Given the description of an element on the screen output the (x, y) to click on. 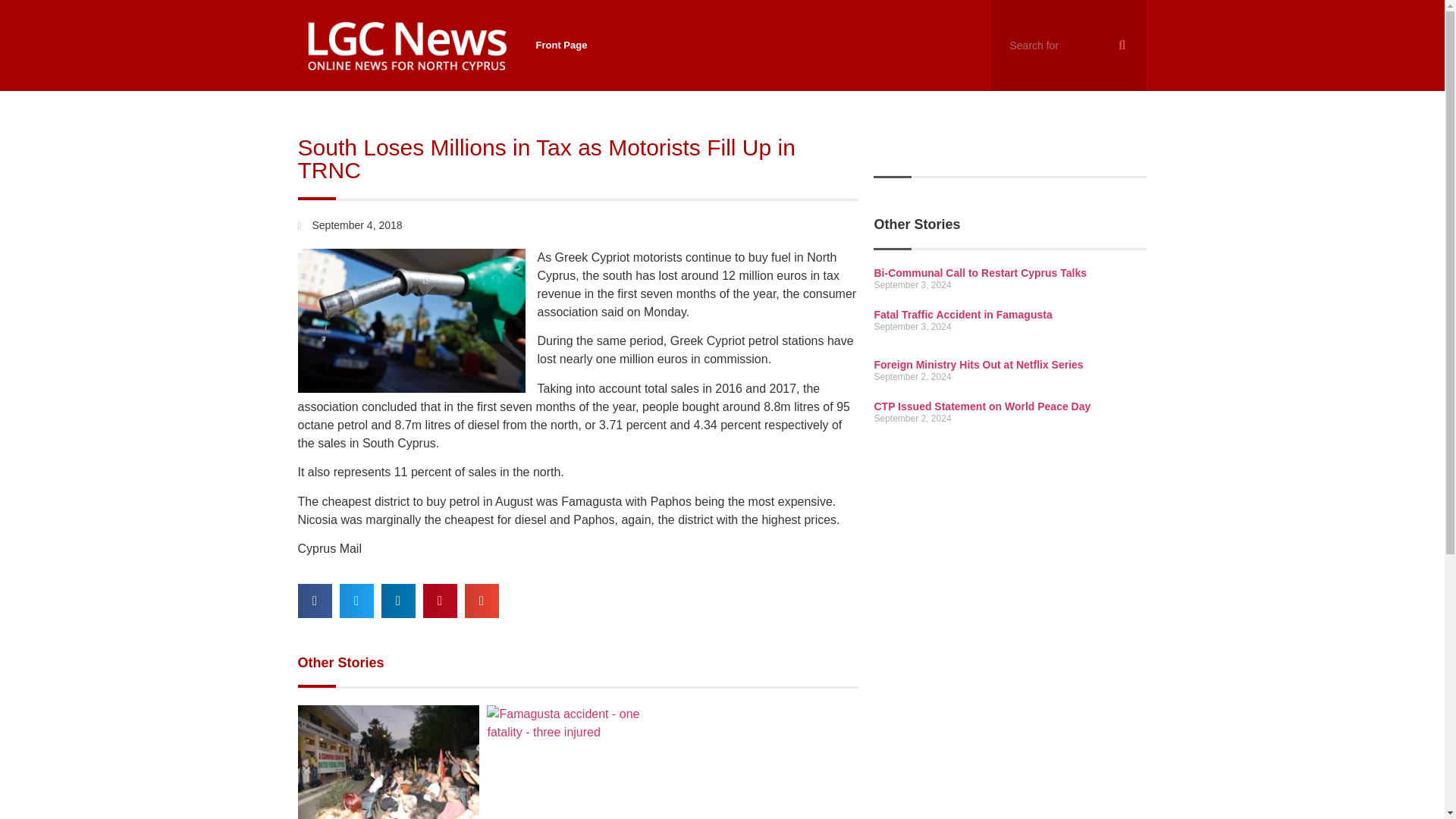
Foreign Ministry Hits Out at Netflix Series (978, 364)
September 4, 2018 (349, 225)
CTP Issued Statement on World Peace Day (981, 406)
Fatal Traffic Accident in Famagusta (962, 314)
Bi-Communal Call to Restart Cyprus Talks (979, 272)
